Given the description of an element on the screen output the (x, y) to click on. 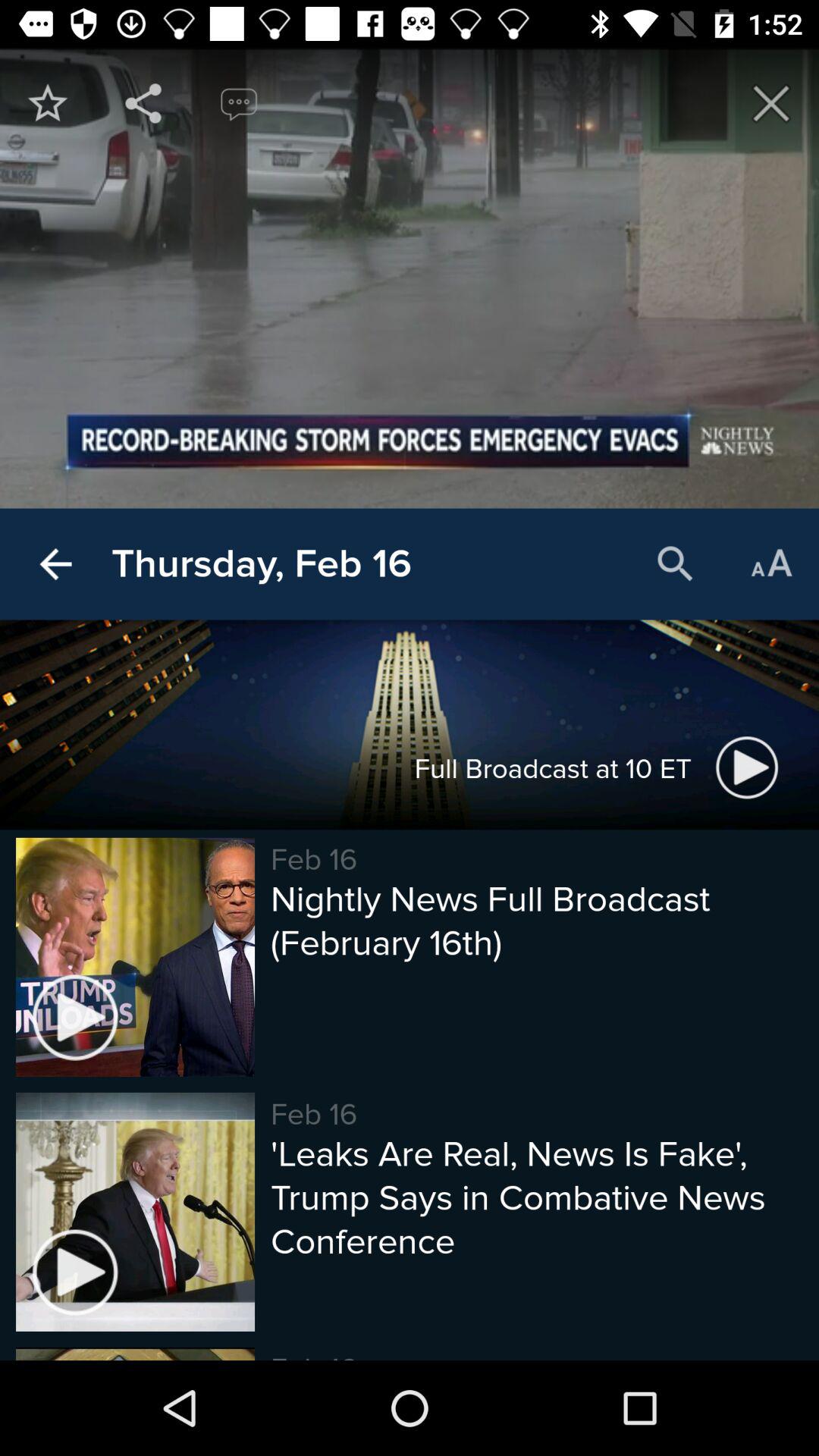
share this video (143, 103)
